Given the description of an element on the screen output the (x, y) to click on. 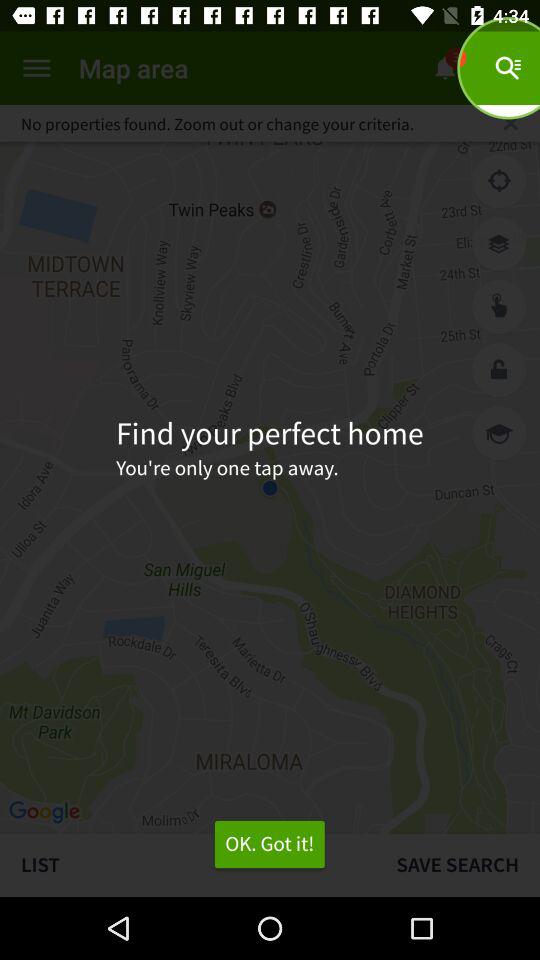
tap the item next to the map area icon (36, 68)
